Given the description of an element on the screen output the (x, y) to click on. 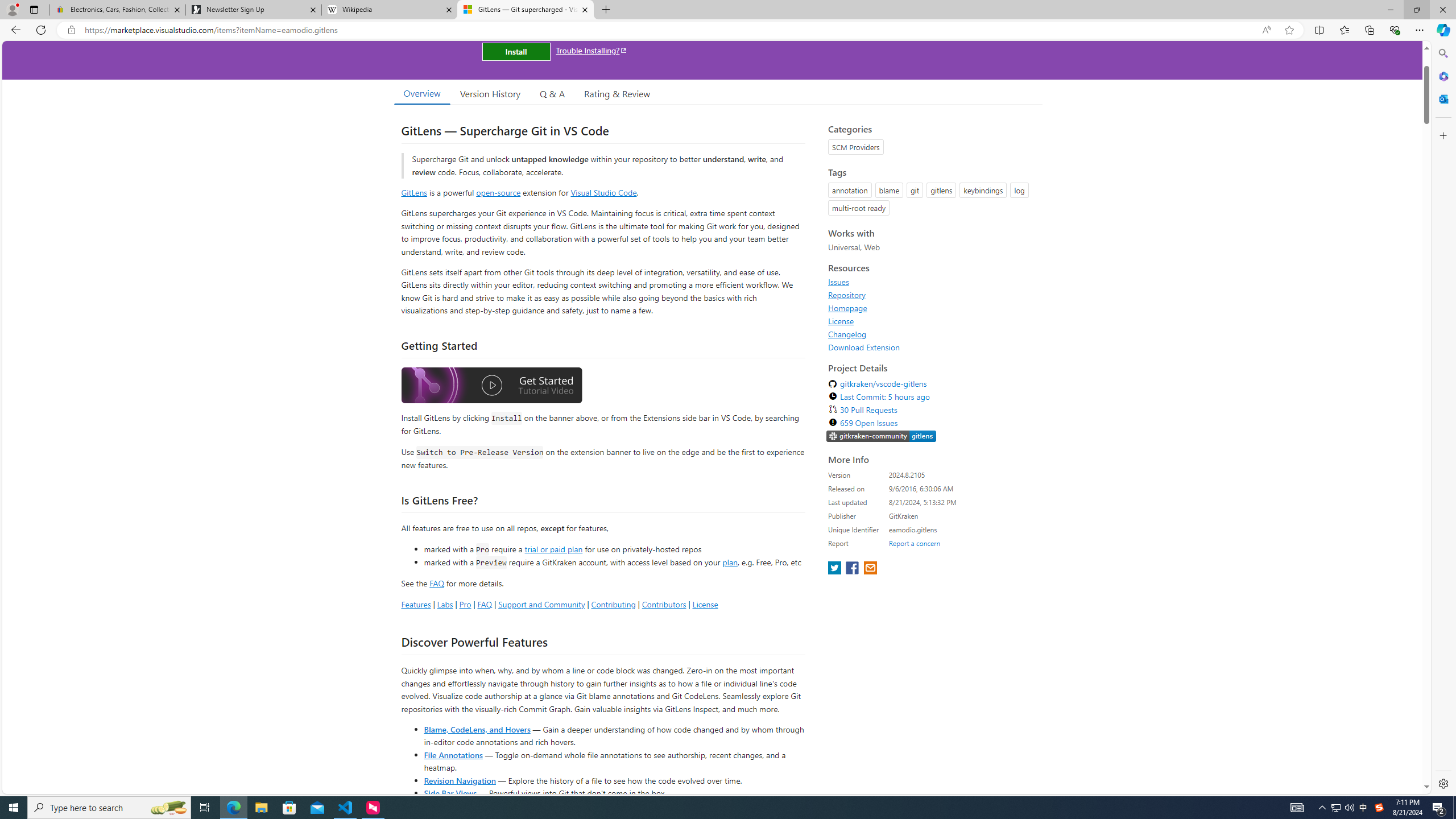
Repository (931, 294)
Download Extension (931, 346)
Issues (838, 281)
Rating & Review (618, 92)
Report a concern (914, 542)
Customize (1442, 135)
Contributors (663, 603)
